Given the description of an element on the screen output the (x, y) to click on. 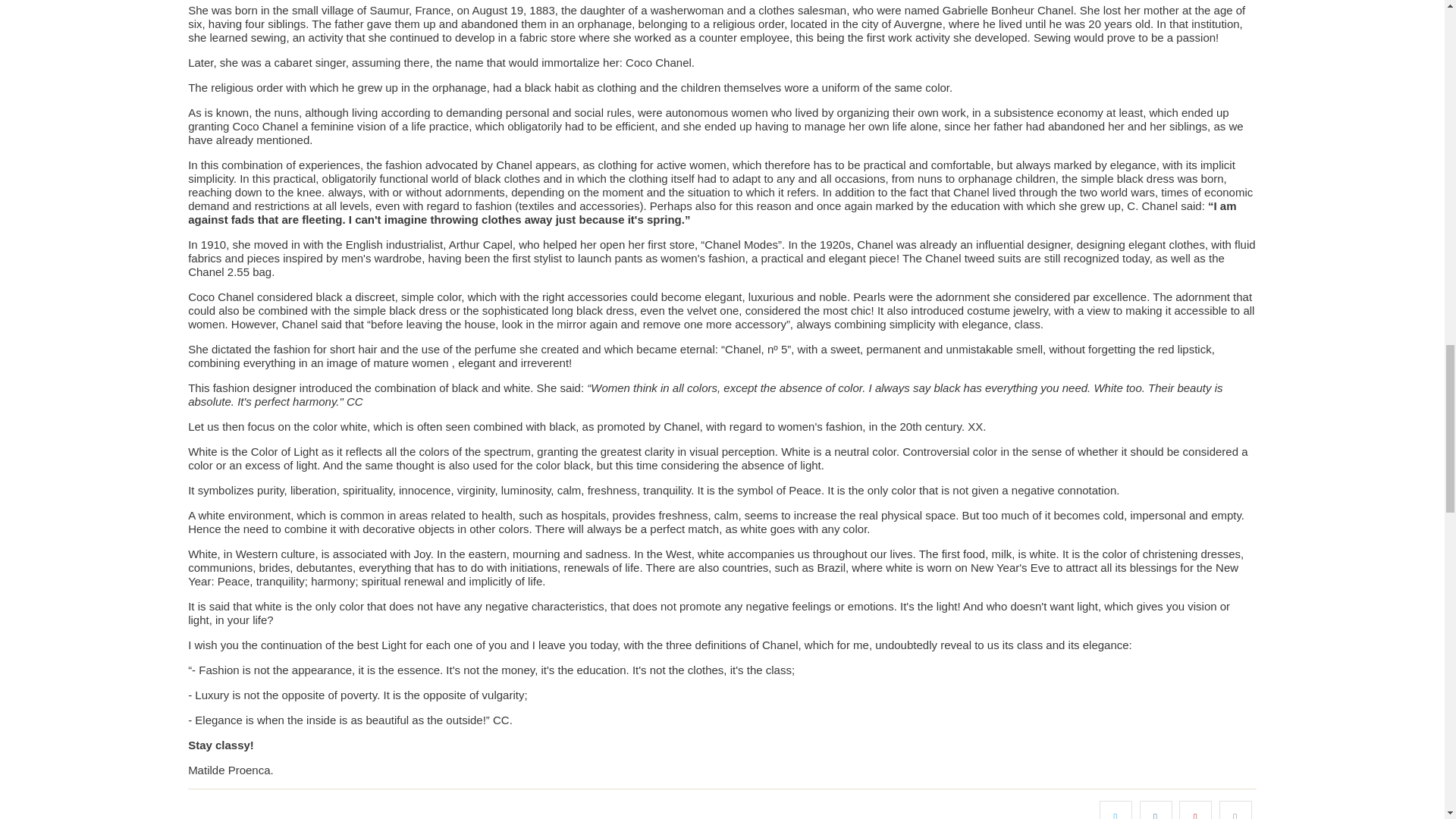
Share this on Twitter (1115, 809)
Share this on Pinterest (1195, 809)
Share this on Facebook (1156, 809)
Email this to a friend (1236, 809)
